Given the description of an element on the screen output the (x, y) to click on. 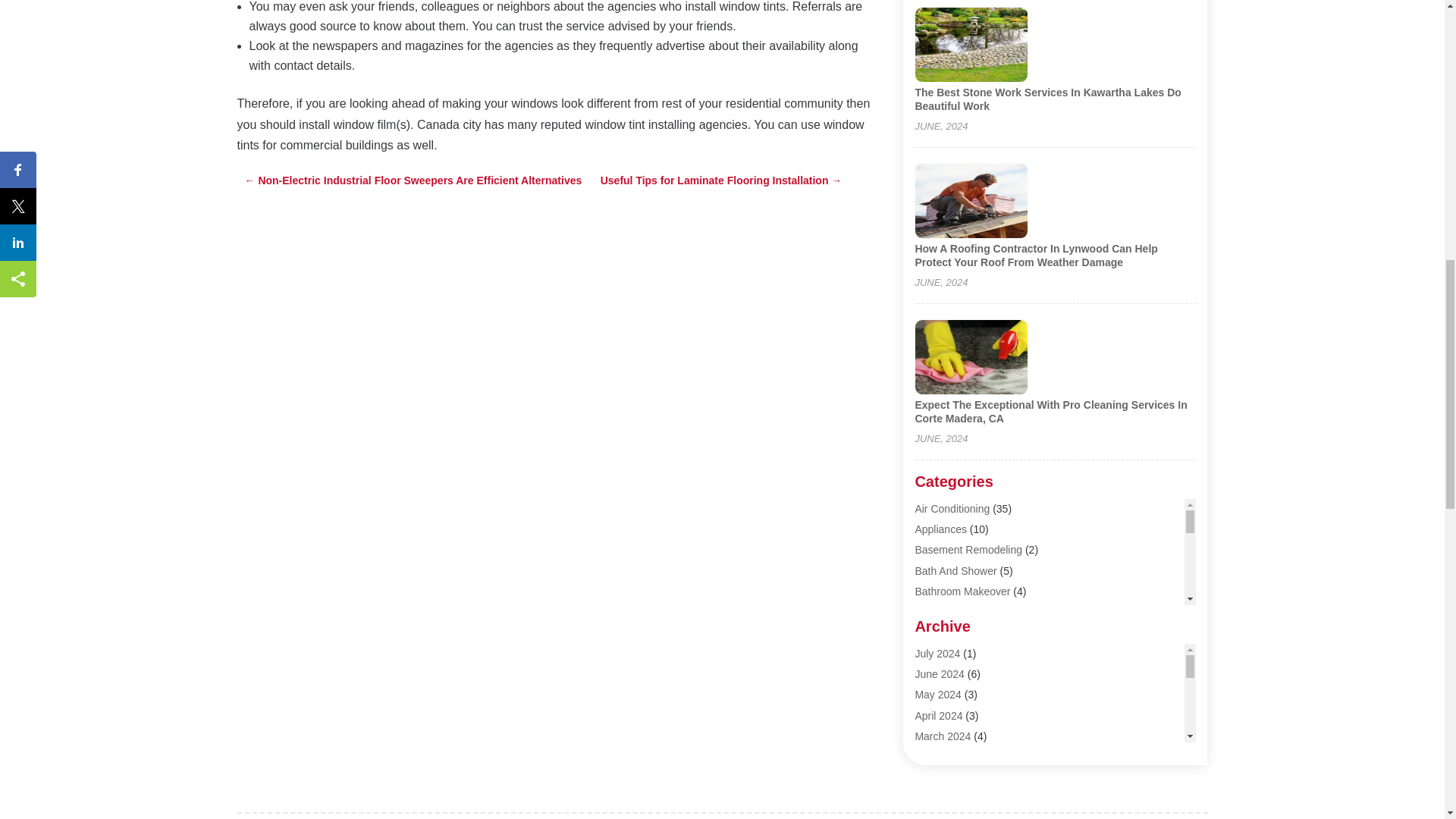
Business (936, 653)
Appliances (940, 529)
Bath And Shower (954, 571)
Basement Remodeling (968, 549)
Bathroom Makeover (962, 591)
Contractor (938, 815)
Blinds (928, 612)
Cleaning (935, 715)
Carpet Cleaning Service (971, 694)
Cleaning Service (954, 735)
Construction And Maintenance (986, 797)
Air Conditioning (952, 508)
